Given the description of an element on the screen output the (x, y) to click on. 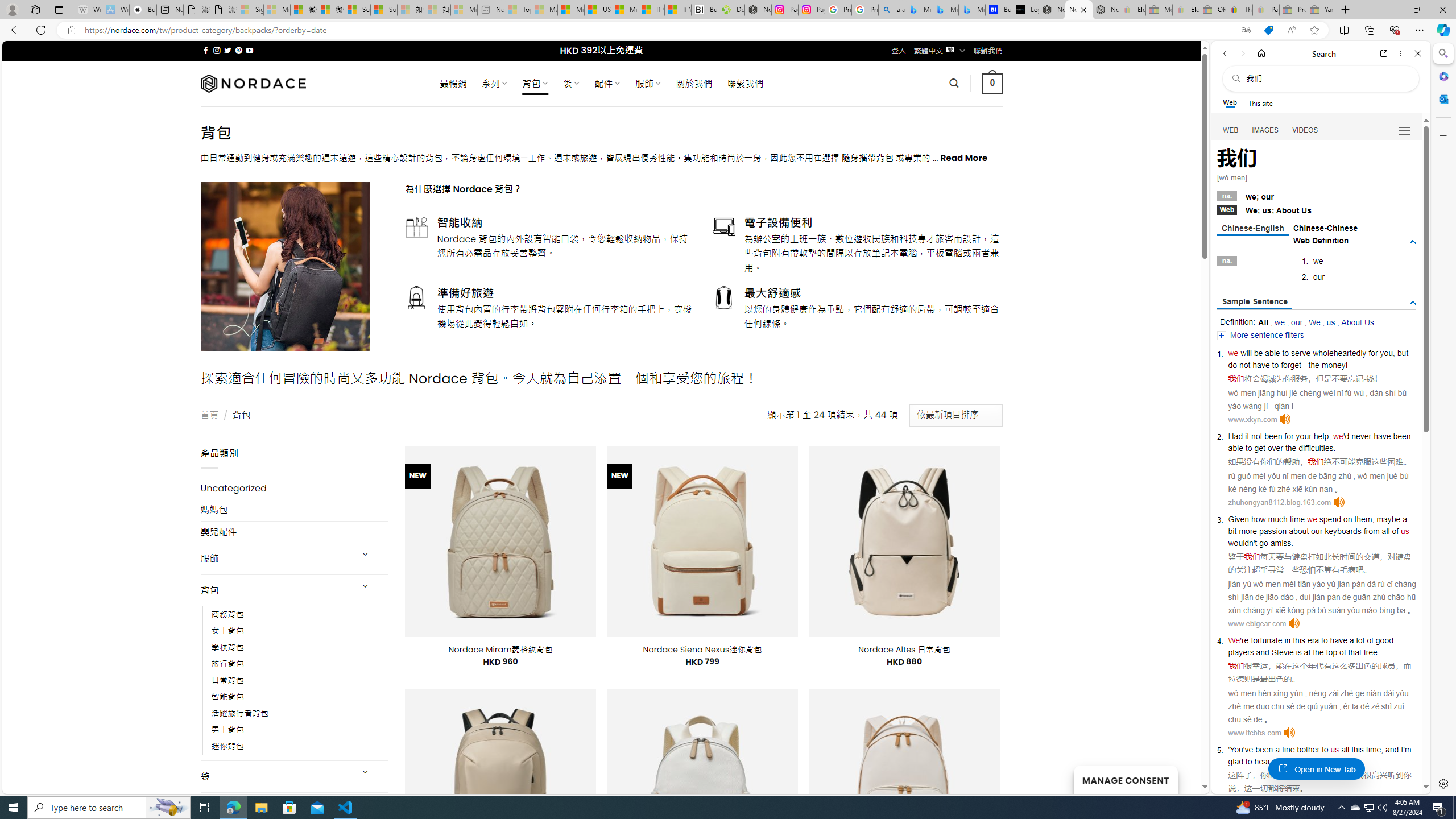
of (1395, 530)
! (1346, 364)
www.ebigear.com (1257, 623)
Read More (964, 157)
on (1347, 519)
This site has coupons! Shopping in Microsoft Edge (1268, 29)
